Given the description of an element on the screen output the (x, y) to click on. 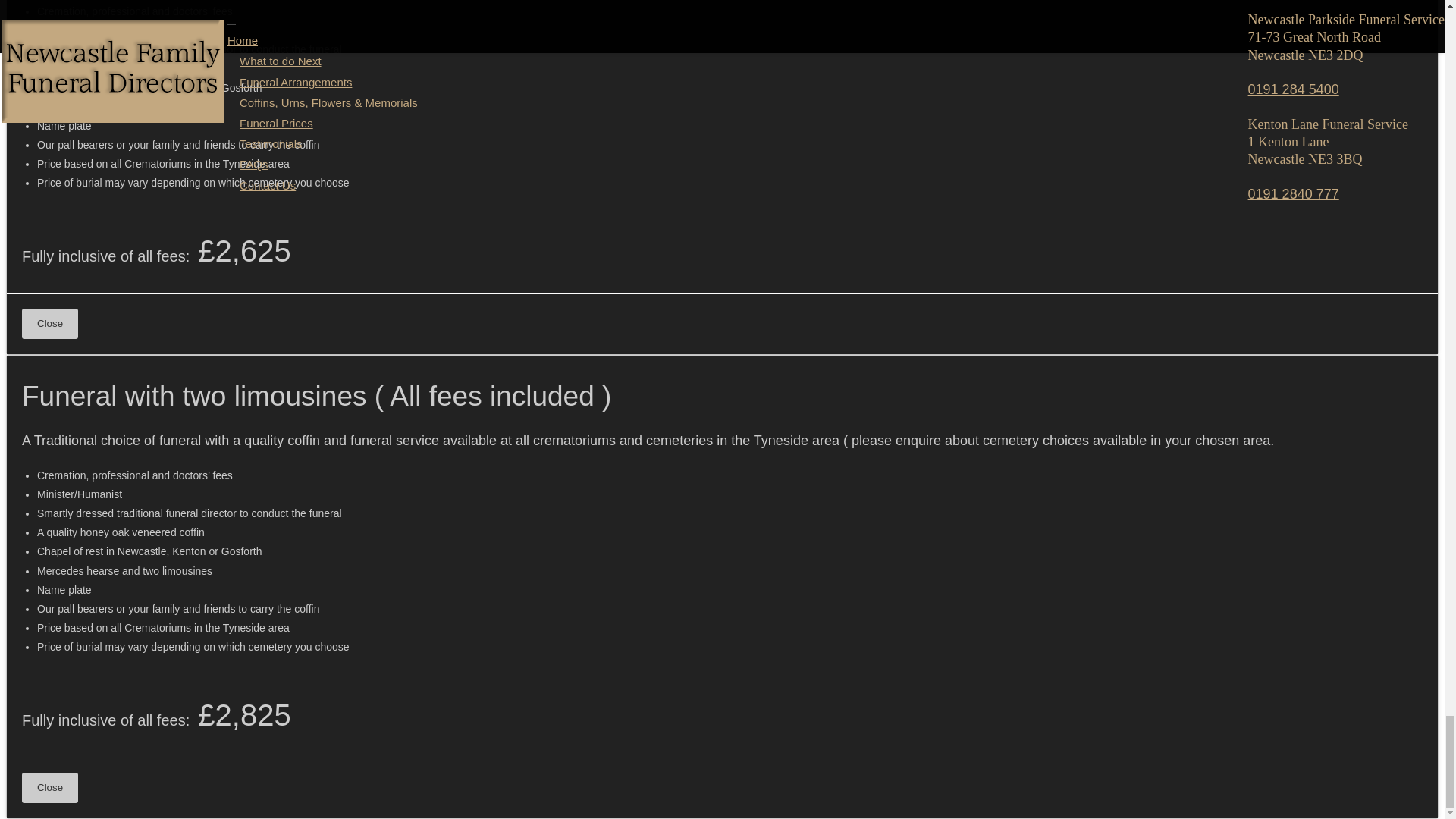
Close (49, 788)
Close (49, 323)
